Given the description of an element on the screen output the (x, y) to click on. 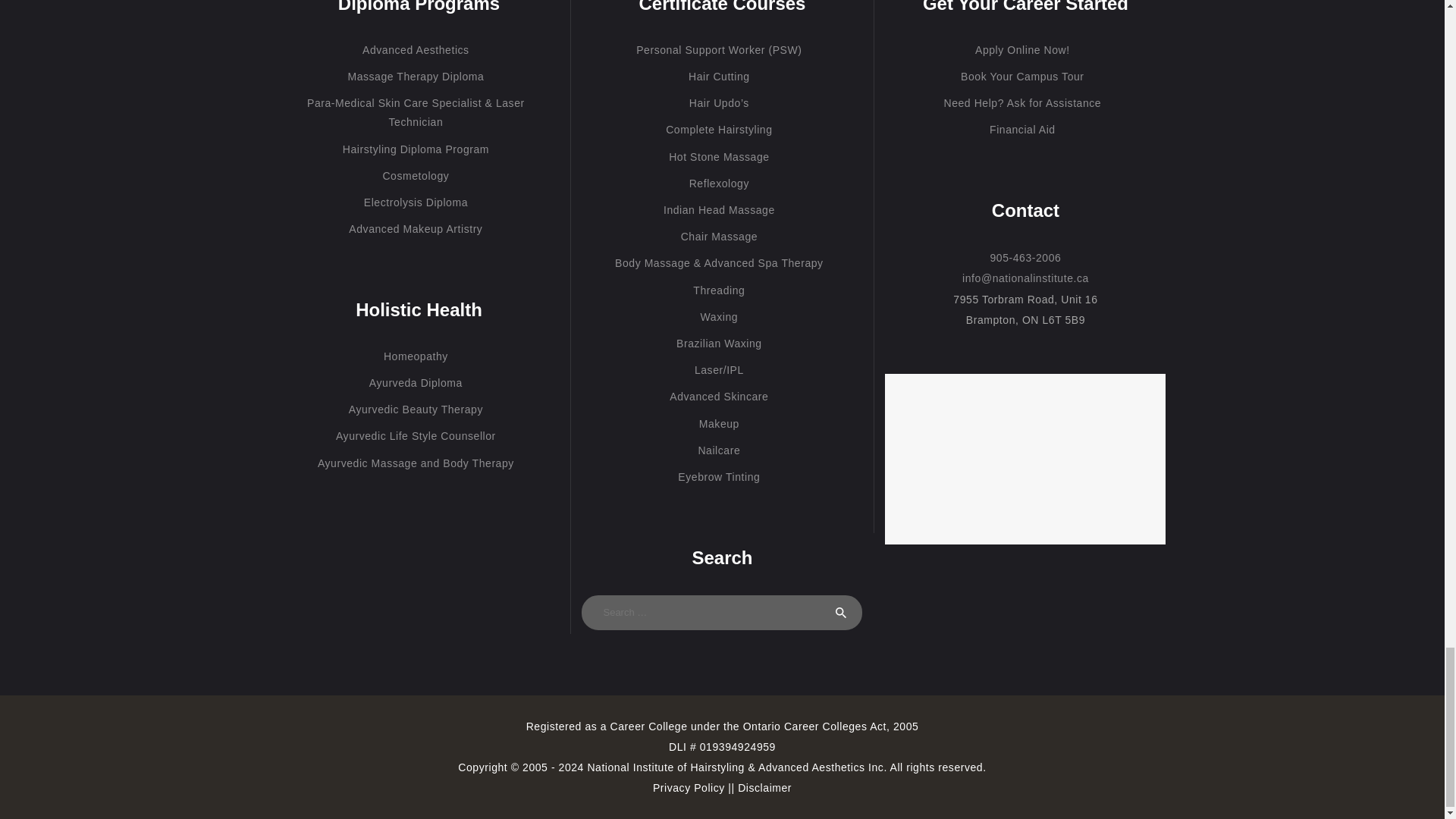
Search (840, 612)
Search (840, 612)
